Given the description of an element on the screen output the (x, y) to click on. 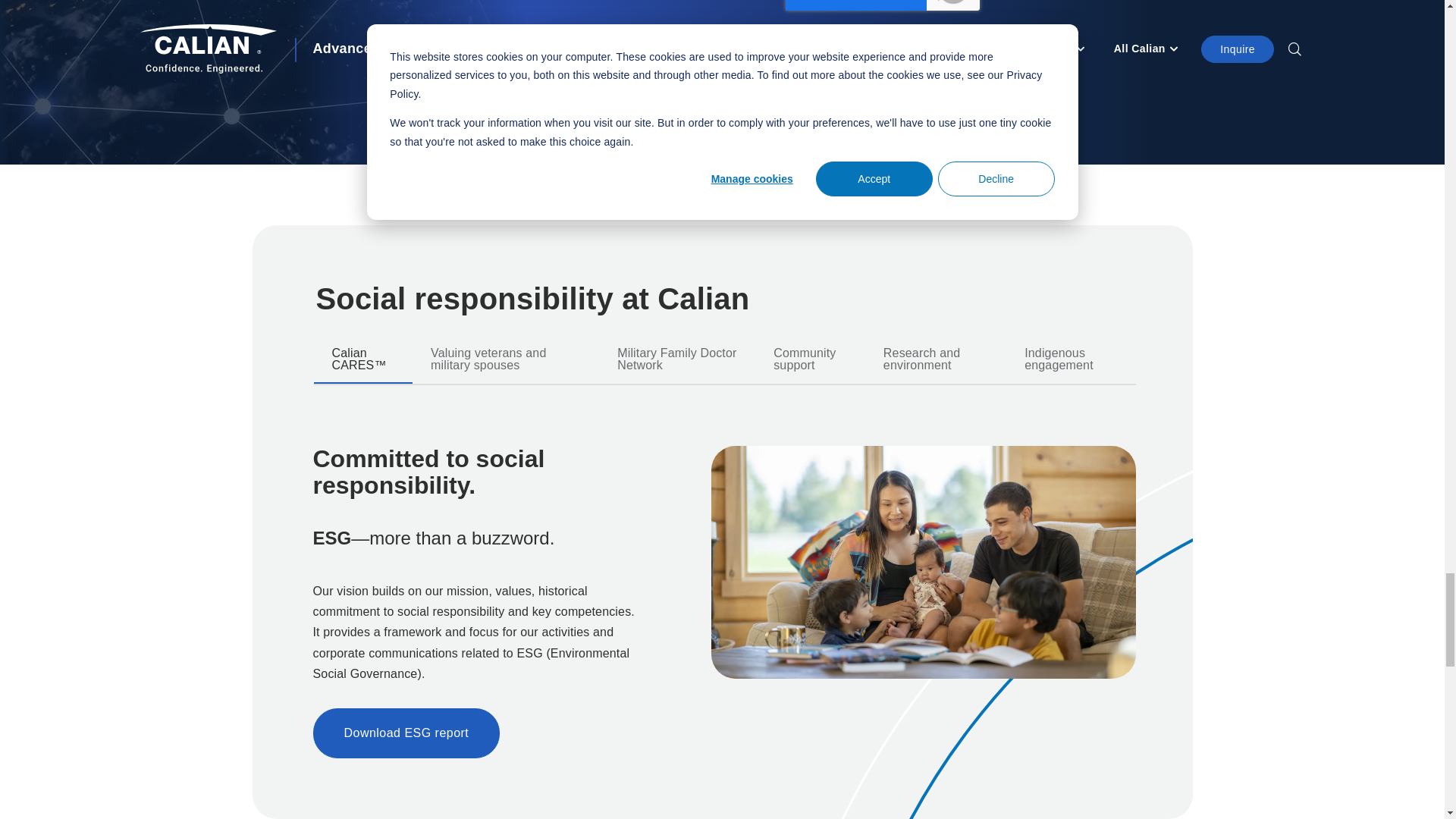
Send (881, 63)
reCAPTCHA (882, 5)
